Given the description of an element on the screen output the (x, y) to click on. 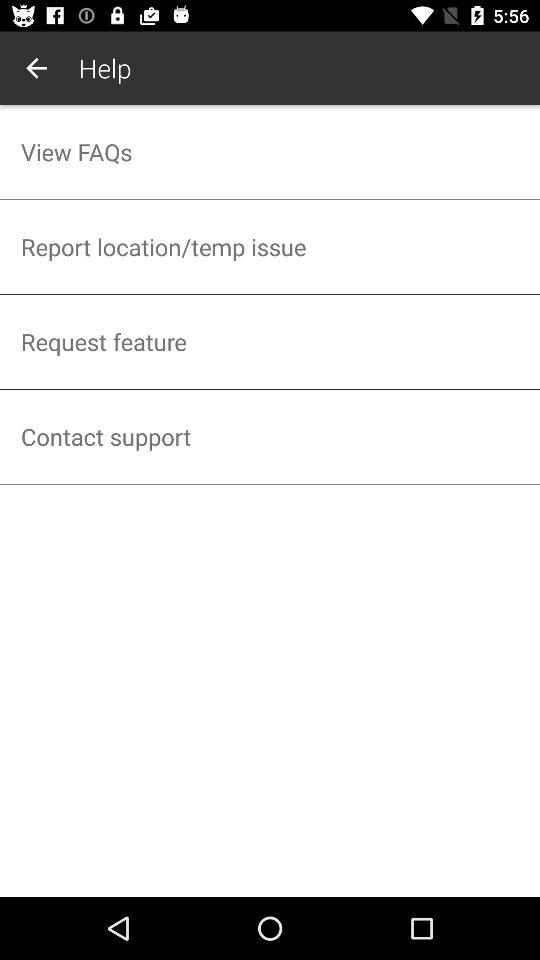
tap contact support (270, 436)
